Given the description of an element on the screen output the (x, y) to click on. 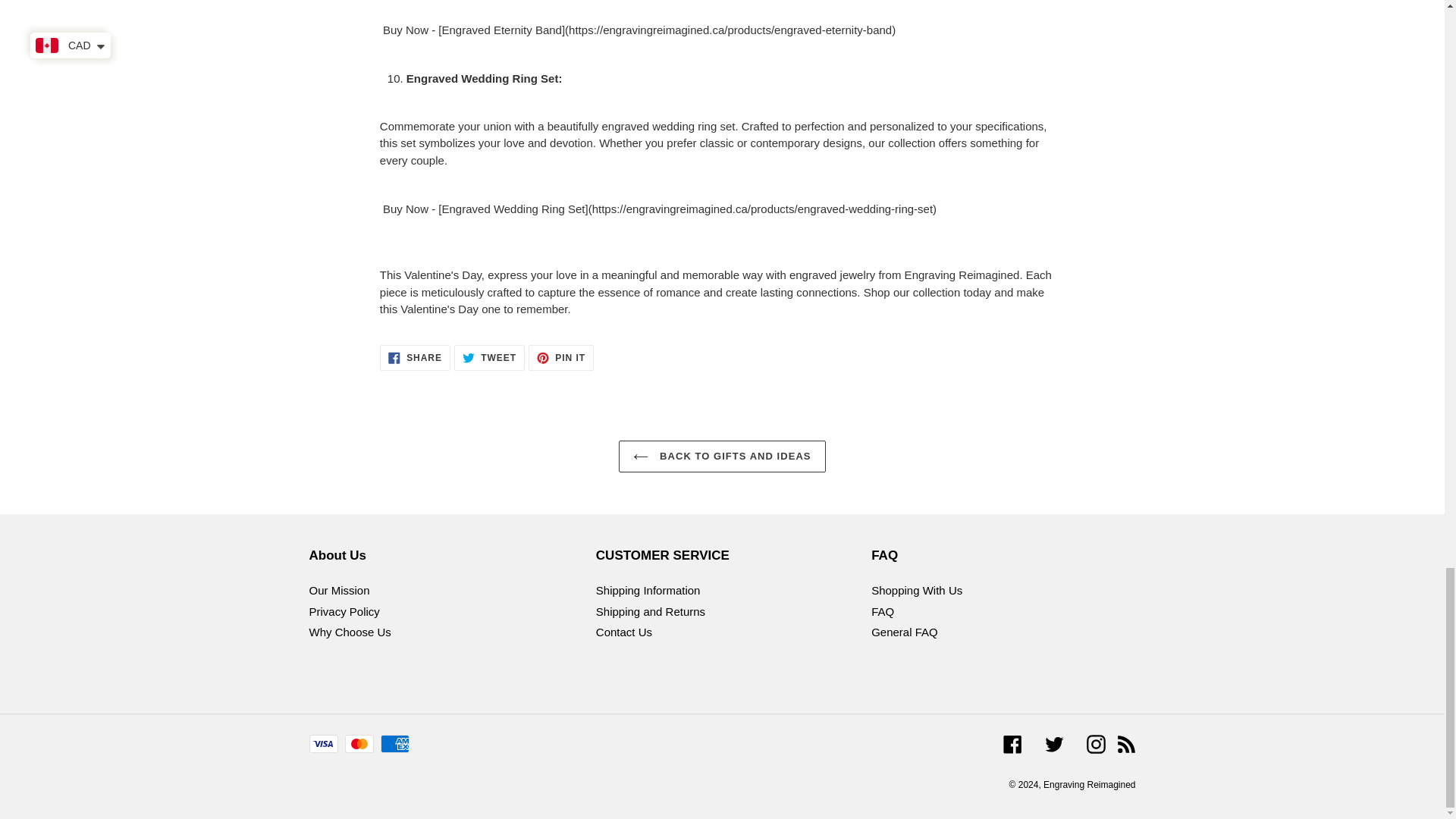
BACK TO GIFTS AND IDEAS (561, 357)
